Given the description of an element on the screen output the (x, y) to click on. 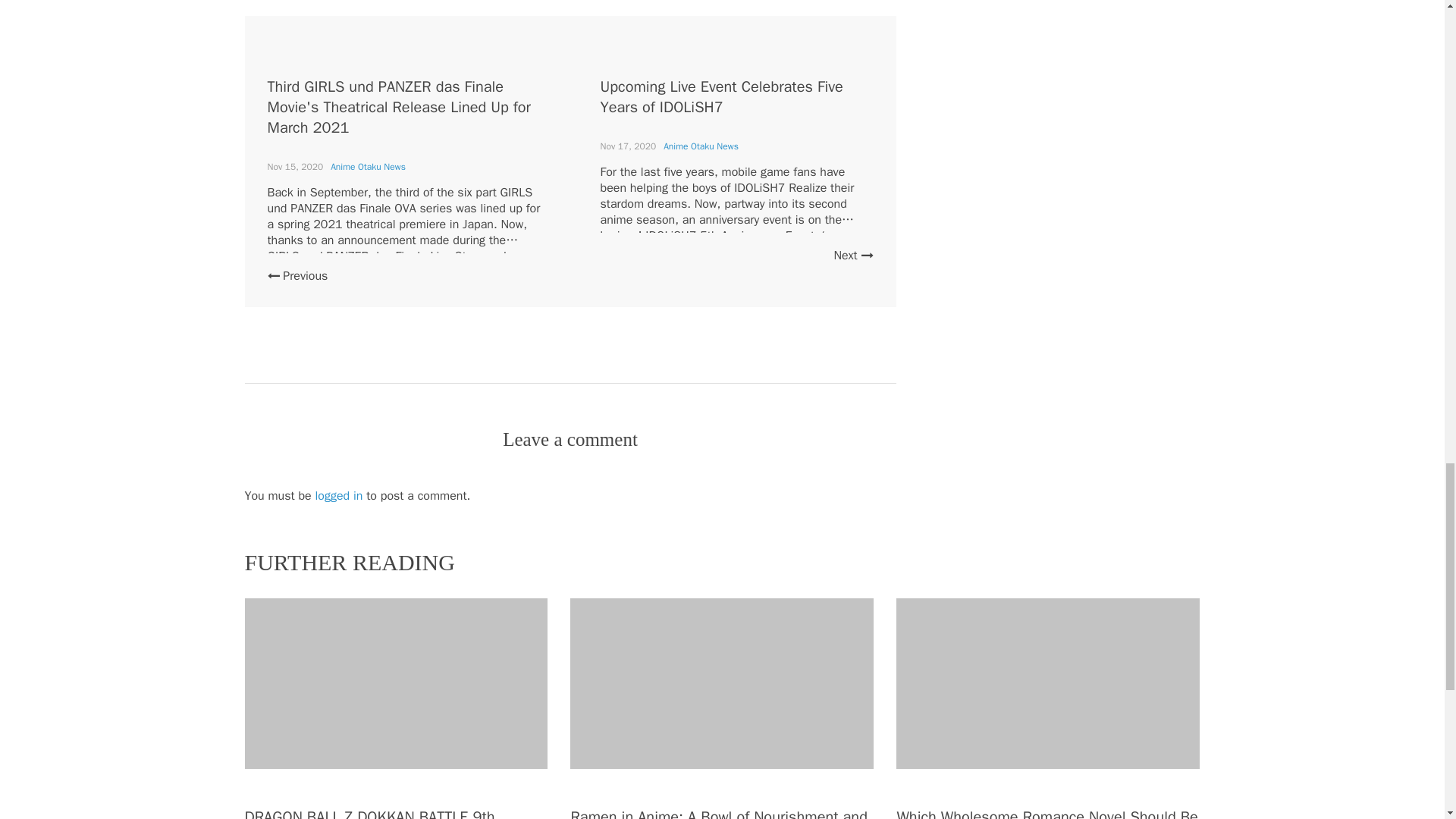
logged in (338, 495)
Anime Otaku News (368, 166)
Ramen in Anime: A Bowl of Nourishment and Symbolism (718, 813)
DRAGON BALL Z DOKKAN BATTLE 9th Anniversary is live! (369, 813)
Previous (296, 275)
Next (852, 255)
Which Wholesome Romance Novel Should Be Adapted to Manga? (1046, 813)
Upcoming Live Event Celebrates Five Years of IDOLiSH7 (721, 96)
Anime Otaku News (700, 146)
